Given the description of an element on the screen output the (x, y) to click on. 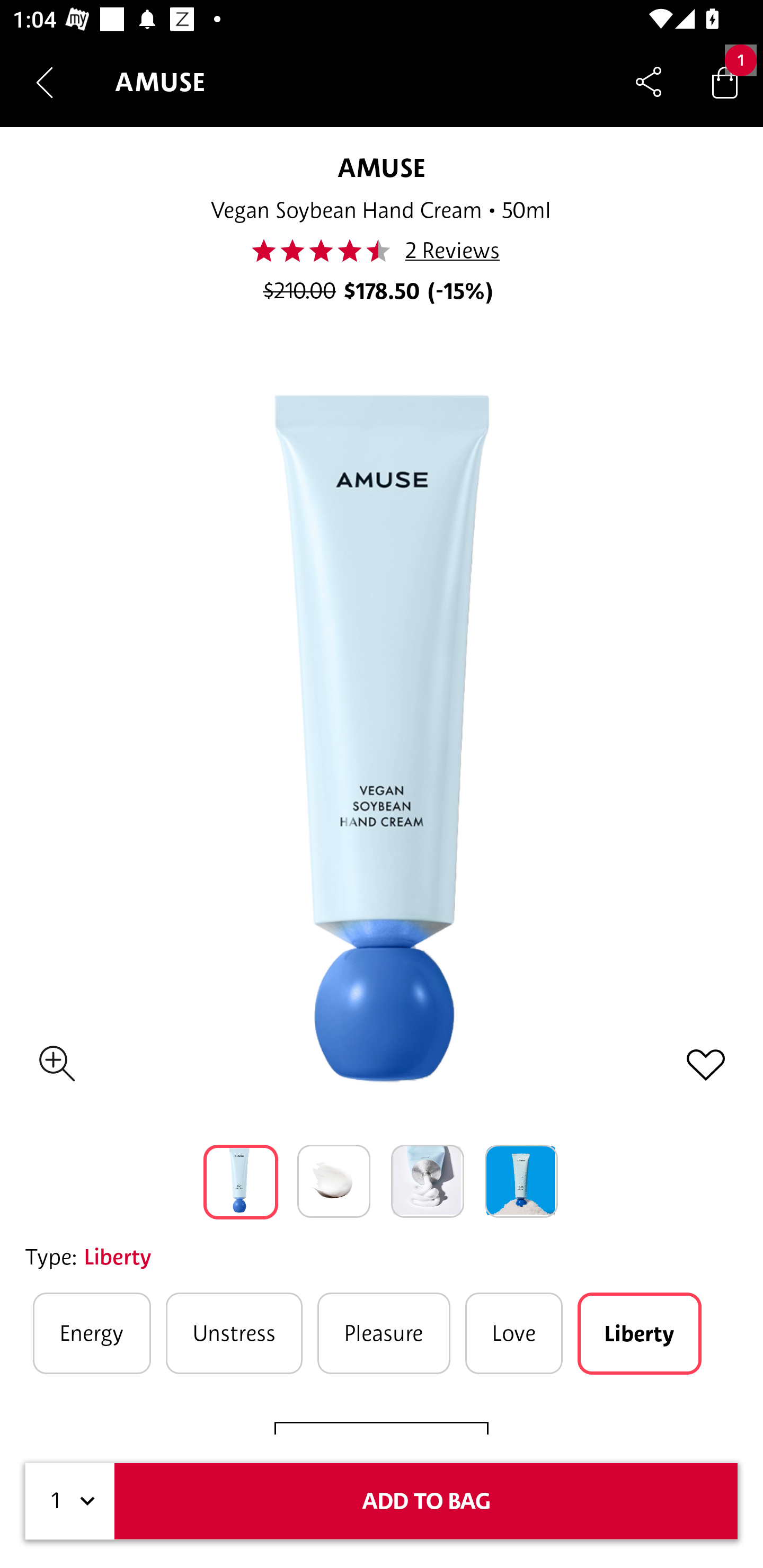
Navigate up (44, 82)
Share (648, 81)
Bag (724, 81)
AMUSE (380, 167)
45.0 2 Reviews (380, 250)
Energy (91, 1332)
Unstress (233, 1332)
Pleasure (383, 1332)
Love (514, 1332)
Liberty (639, 1333)
1 (69, 1500)
ADD TO BAG (425, 1500)
